Given the description of an element on the screen output the (x, y) to click on. 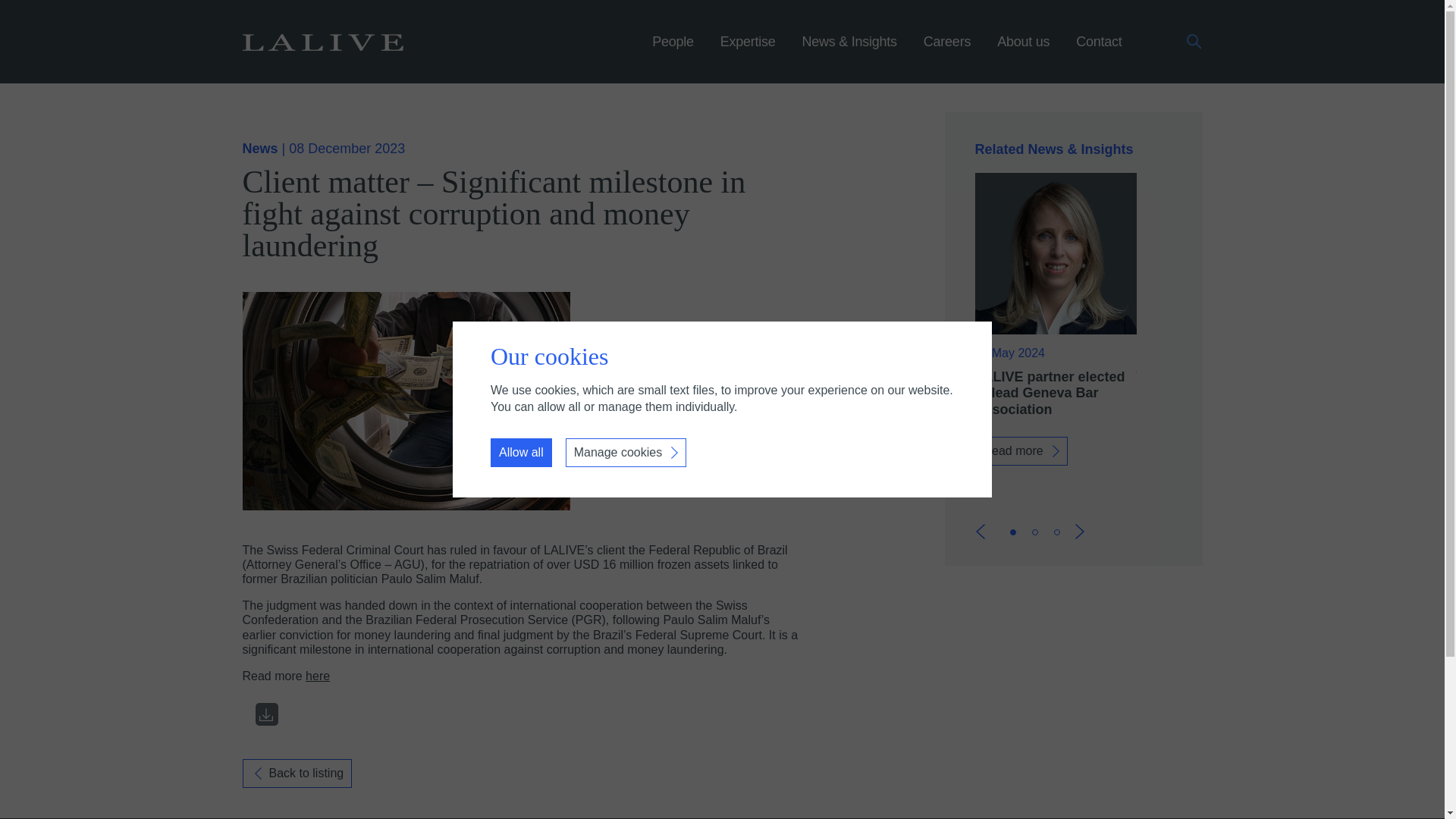
Download this article (266, 713)
About us (1023, 51)
People (673, 51)
Expertise (748, 51)
Careers (947, 51)
Contact (1098, 51)
